Given the description of an element on the screen output the (x, y) to click on. 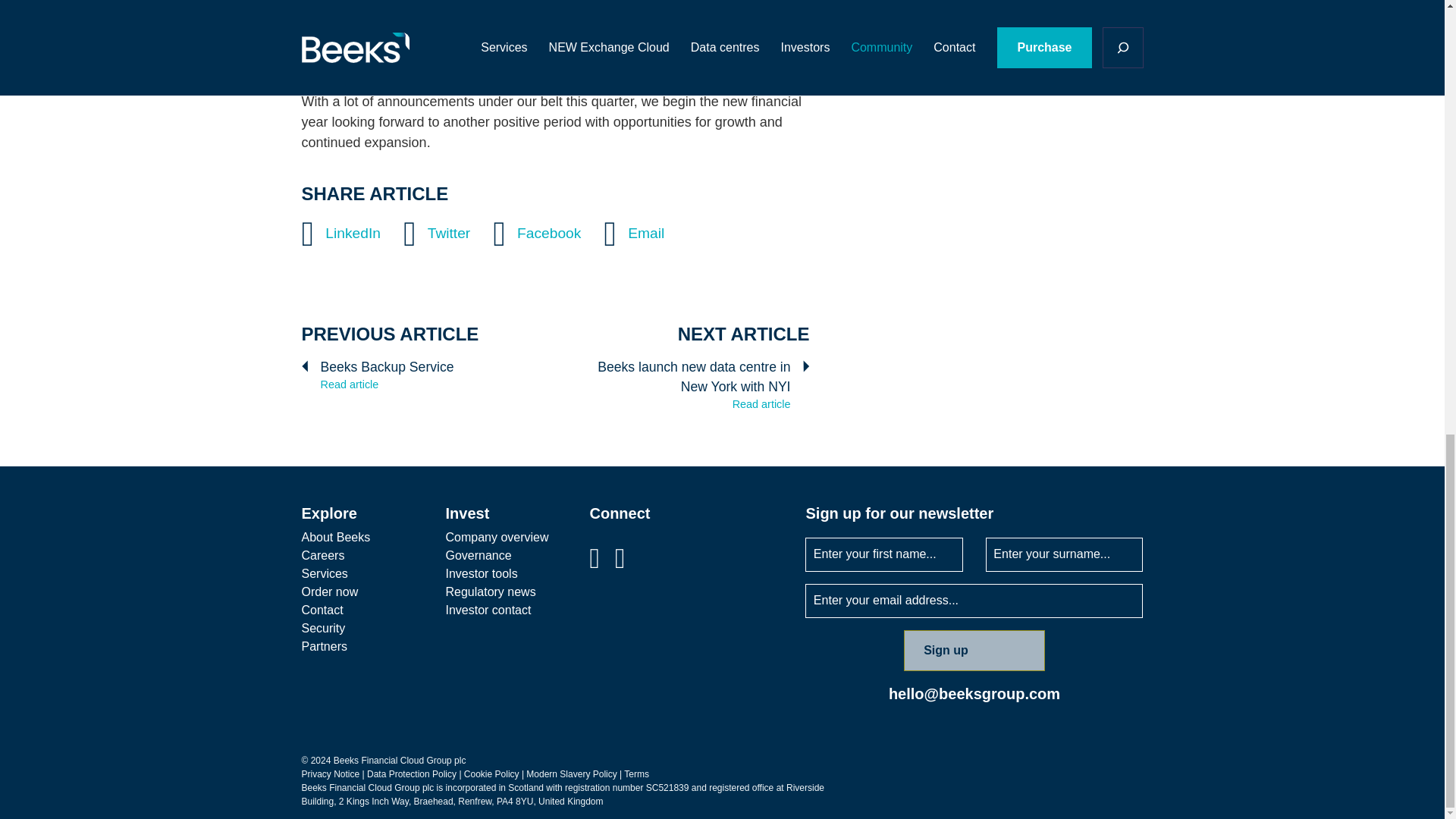
Sign up (974, 649)
Submit (1109, 76)
